Given the description of an element on the screen output the (x, y) to click on. 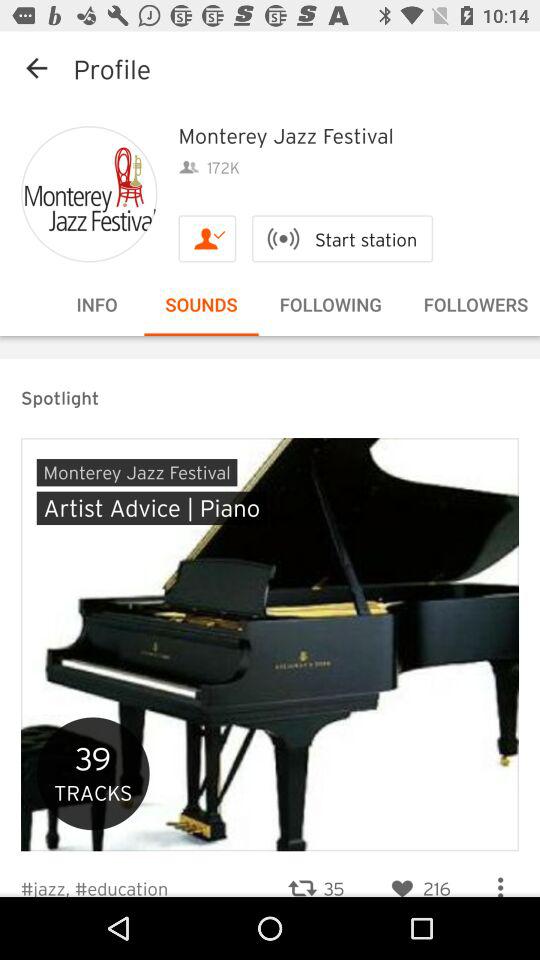
click icon next to profile item (36, 68)
